Given the description of an element on the screen output the (x, y) to click on. 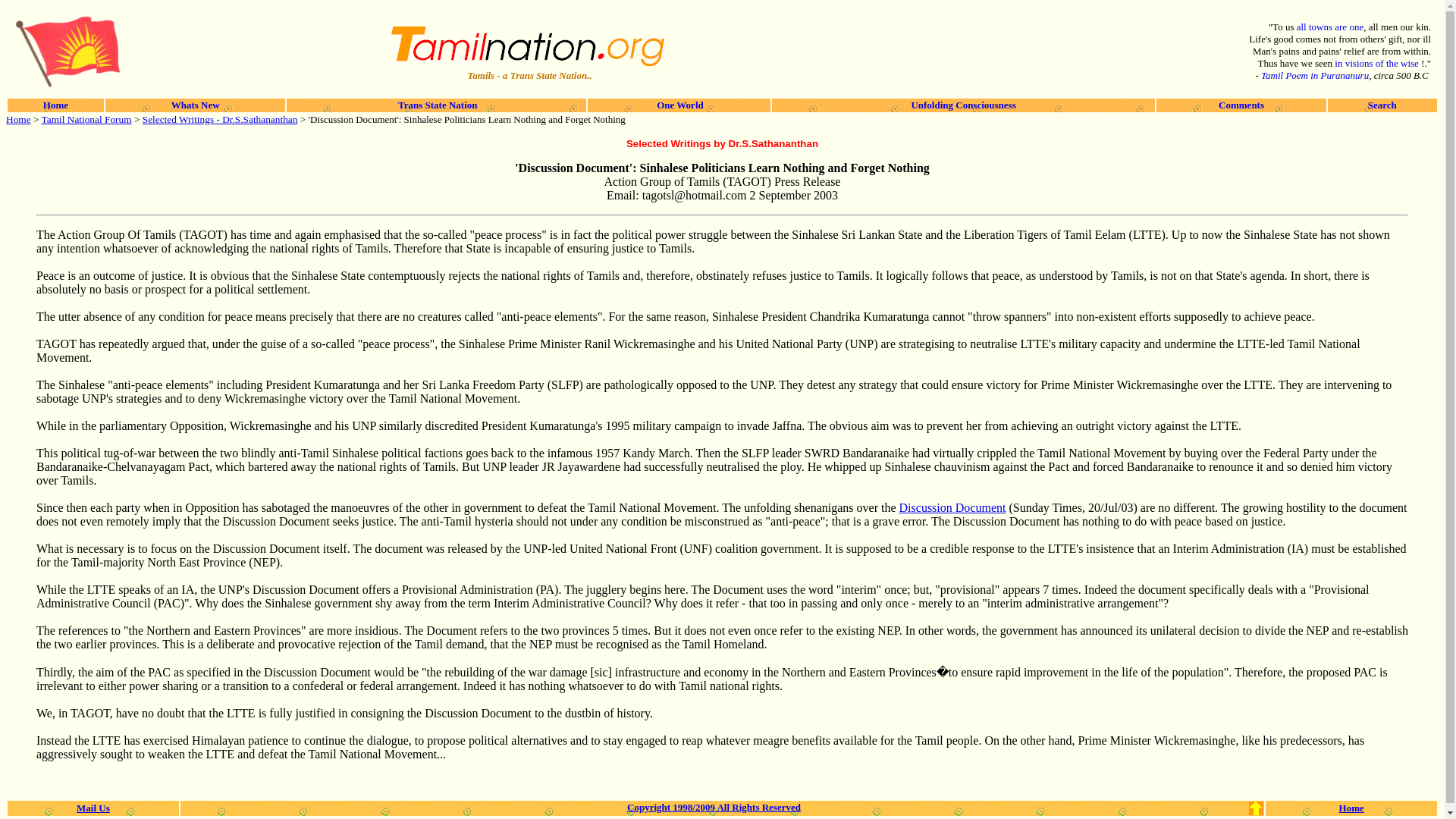
Comments (1240, 104)
Discussion Document (952, 507)
Tamil National Forum (87, 119)
Tamil Poem in Purananuru (1314, 75)
Home (55, 104)
Mail Us (93, 807)
all towns are one (1329, 26)
Home (17, 119)
Unfolding Consciousness (962, 104)
Search (1382, 104)
 Trans State Nation (436, 104)
Home (1351, 807)
 Tamils - a Trans State Nation.. (527, 75)
 One World (678, 104)
Selected Writings - Dr.S.Sathananthan (220, 119)
